Given the description of an element on the screen output the (x, y) to click on. 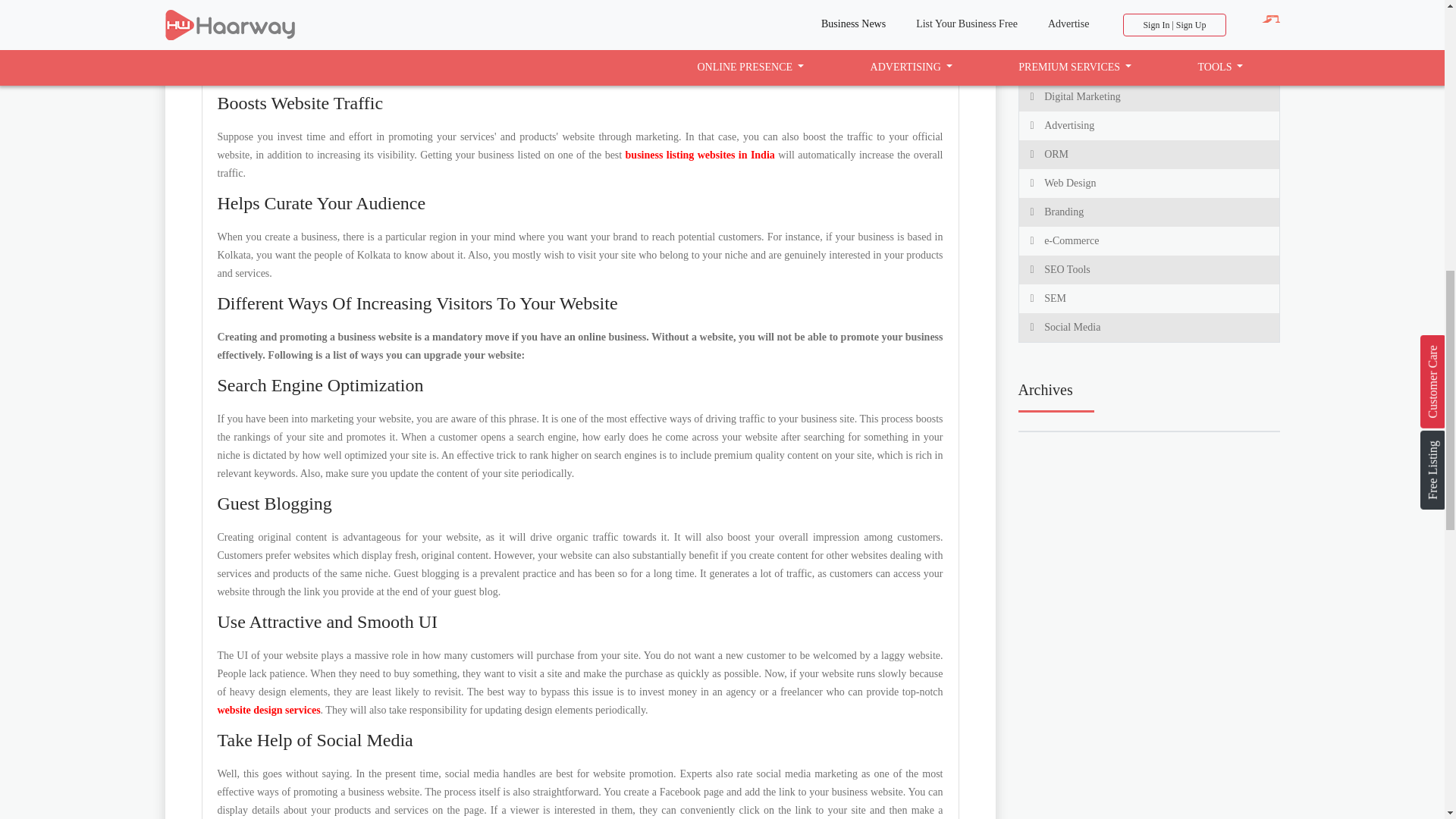
local business listing in india (700, 154)
